Given the description of an element on the screen output the (x, y) to click on. 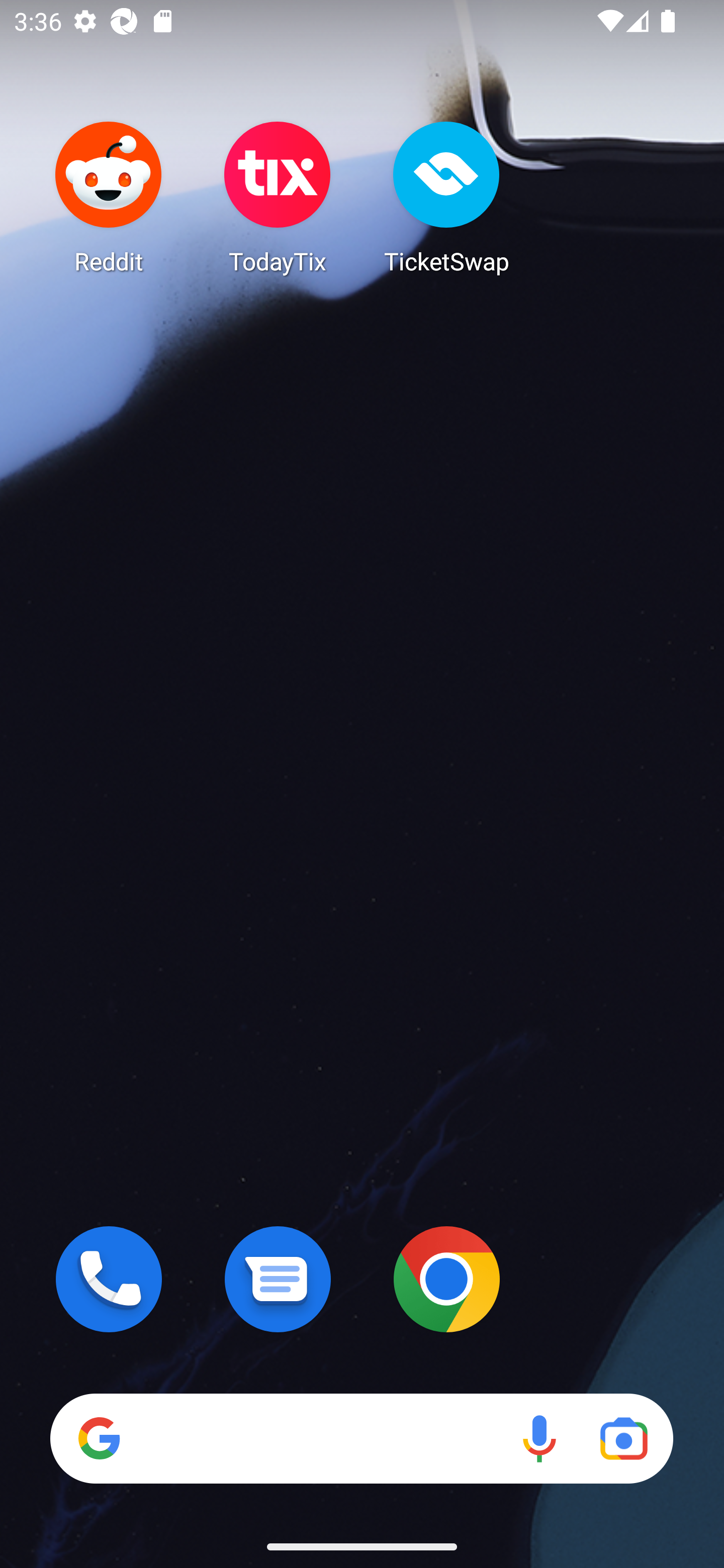
Reddit (108, 196)
TodayTix (277, 196)
TicketSwap (445, 196)
Phone (108, 1279)
Messages (277, 1279)
Chrome (446, 1279)
Voice search (539, 1438)
Google Lens (623, 1438)
